Given the description of an element on the screen output the (x, y) to click on. 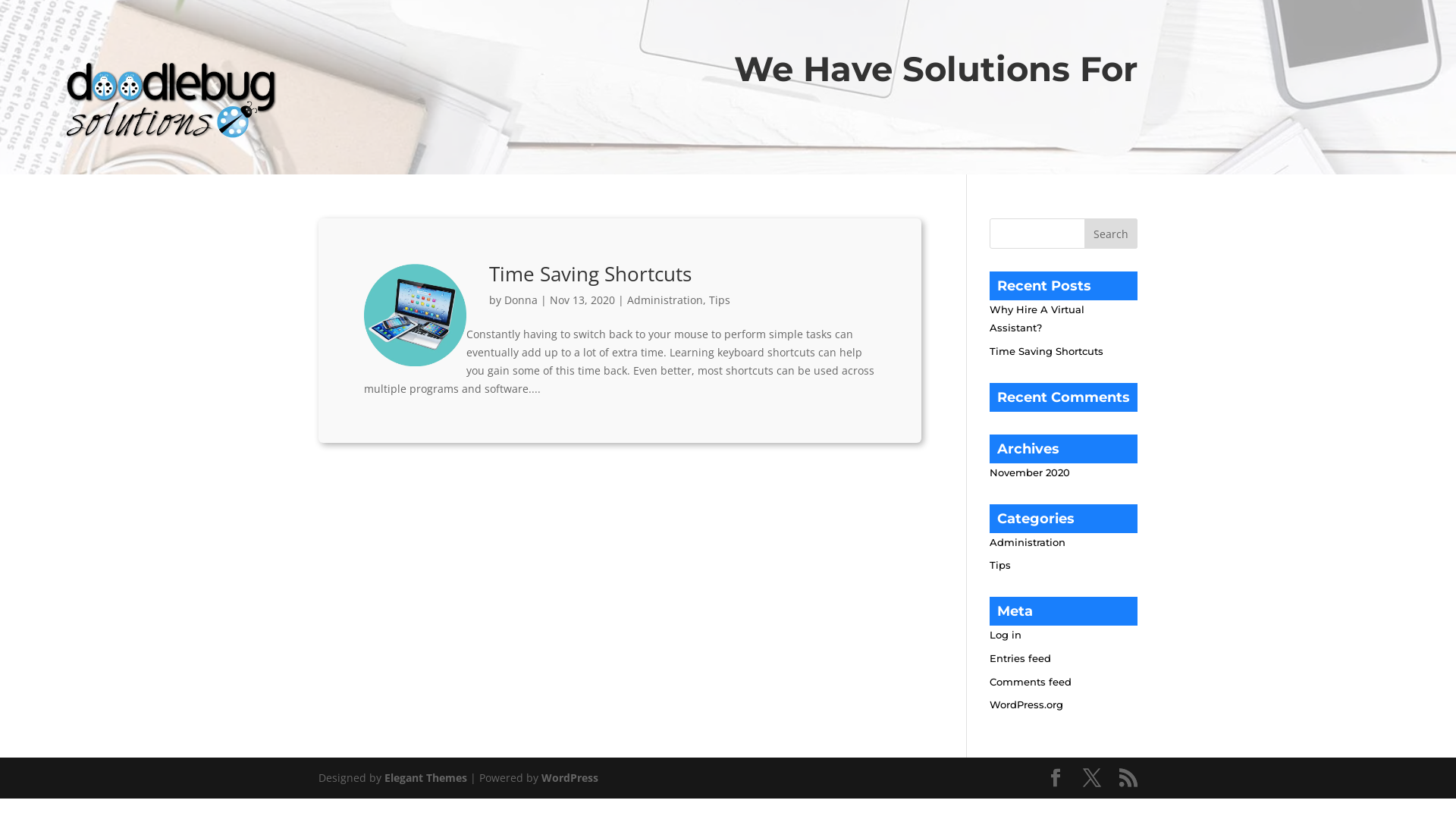
Comments feed Element type: text (1030, 681)
Tips Element type: text (999, 564)
Search Element type: text (1110, 233)
November 2020 Element type: text (1029, 472)
Time Saving Shortcuts Element type: text (1046, 351)
WordPress.org Element type: text (1026, 704)
Time Saving Shortcuts Element type: text (590, 273)
Log in Element type: text (1005, 634)
Administration Element type: text (664, 299)
Donna Element type: text (520, 299)
Administration Element type: text (1027, 541)
WordPress Element type: text (569, 777)
Entries feed Element type: text (1020, 658)
Why Hire A Virtual Assistant? Element type: text (1036, 318)
Elegant Themes Element type: text (425, 777)
Tips Element type: text (719, 299)
